Given the description of an element on the screen output the (x, y) to click on. 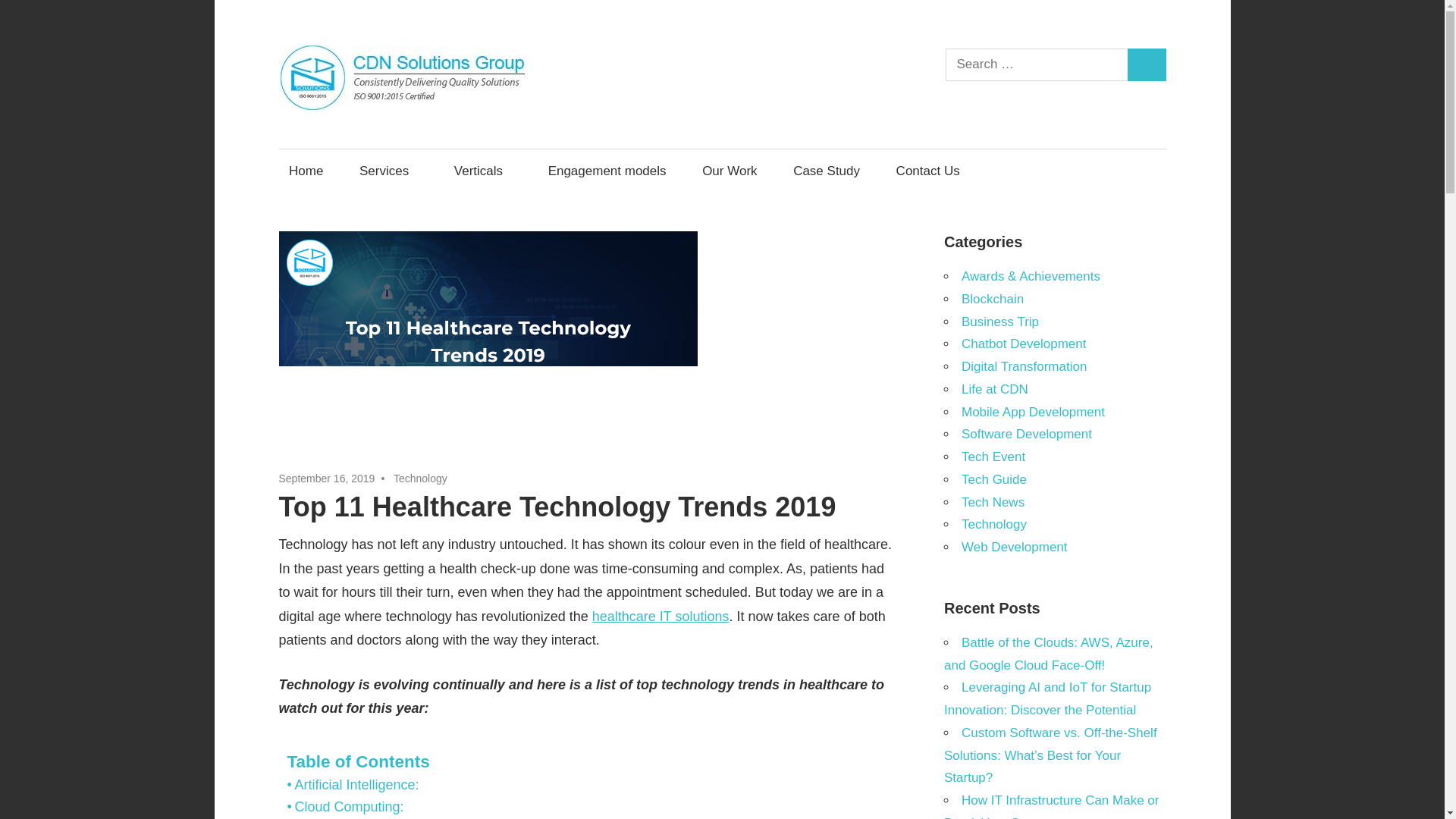
Our Work (730, 170)
Artificial Intelligence: (352, 784)
September 16, 2019 (327, 478)
Contact Us (927, 170)
12:23 pm (327, 478)
Search for: (1036, 64)
Top 11 Healthcare Technology Trends 2019 (488, 340)
Verticals (482, 170)
healthcare IT solutions (660, 616)
Case Study (826, 170)
Cloud Computing: (344, 807)
Services (388, 170)
Search (1146, 64)
Technology (419, 478)
Artificial Intelligence: (352, 784)
